Given the description of an element on the screen output the (x, y) to click on. 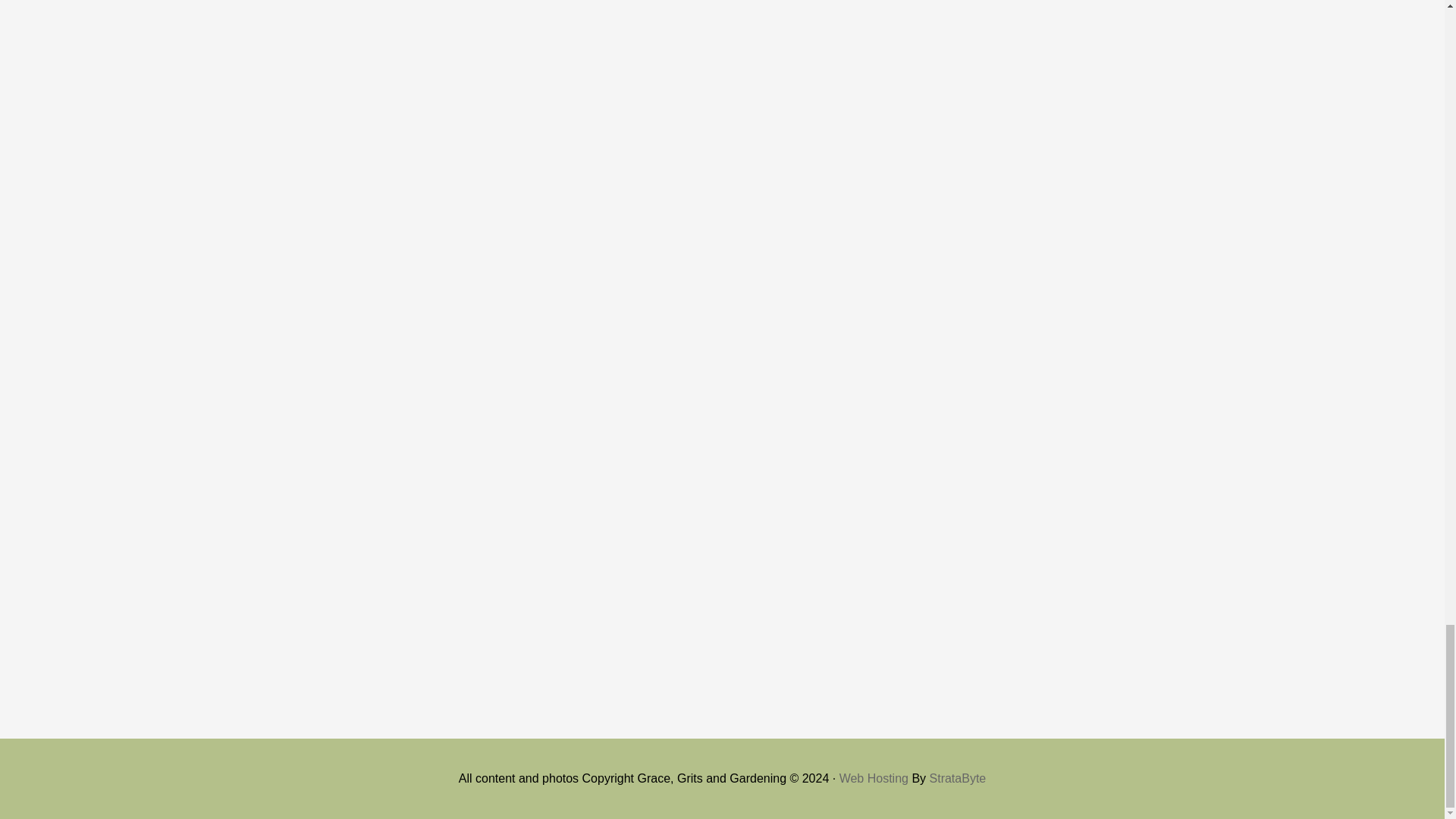
StrataByte (958, 778)
Web Hosting (874, 778)
